Given the description of an element on the screen output the (x, y) to click on. 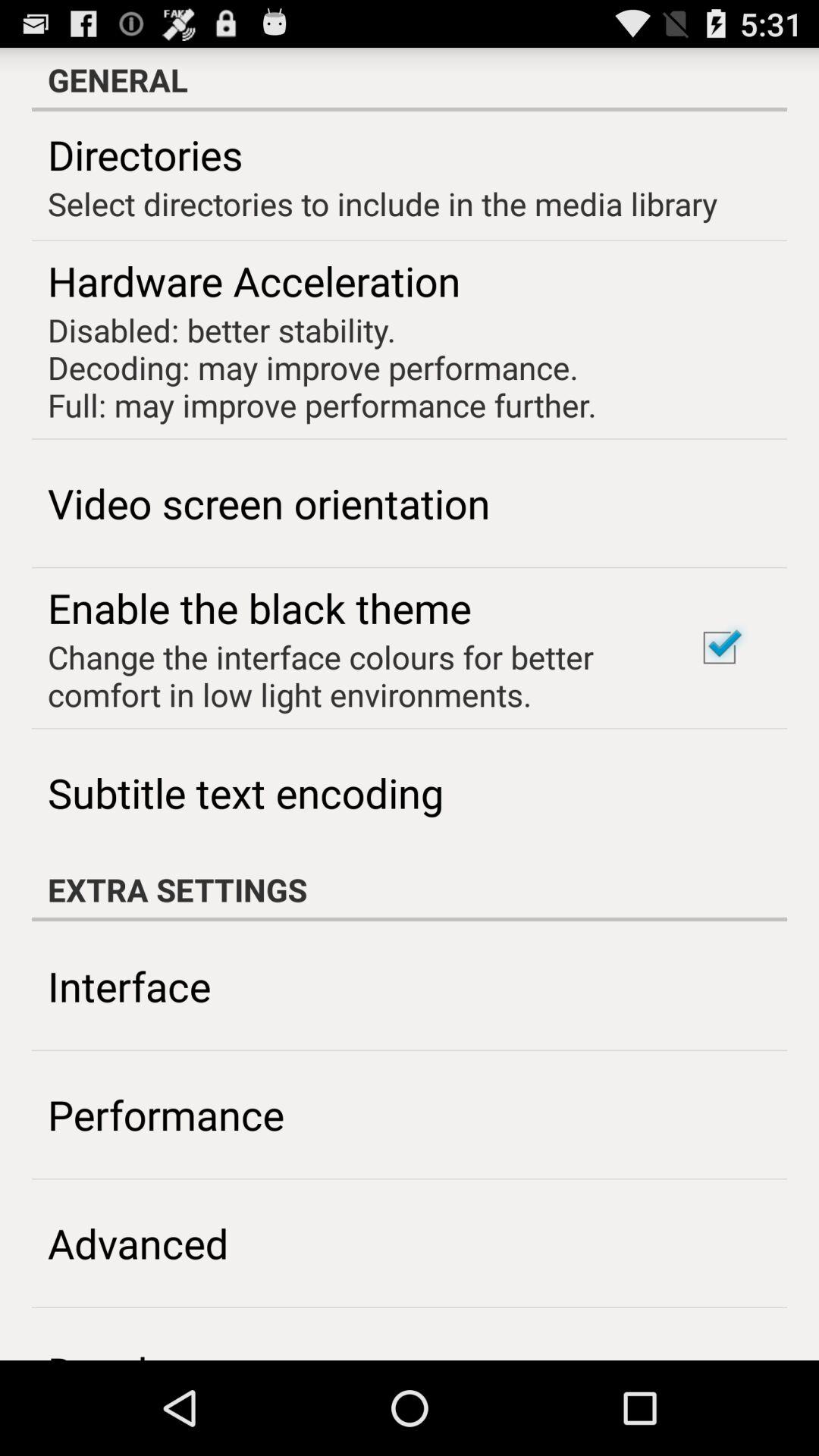
launch the app below performance (137, 1242)
